Given the description of an element on the screen output the (x, y) to click on. 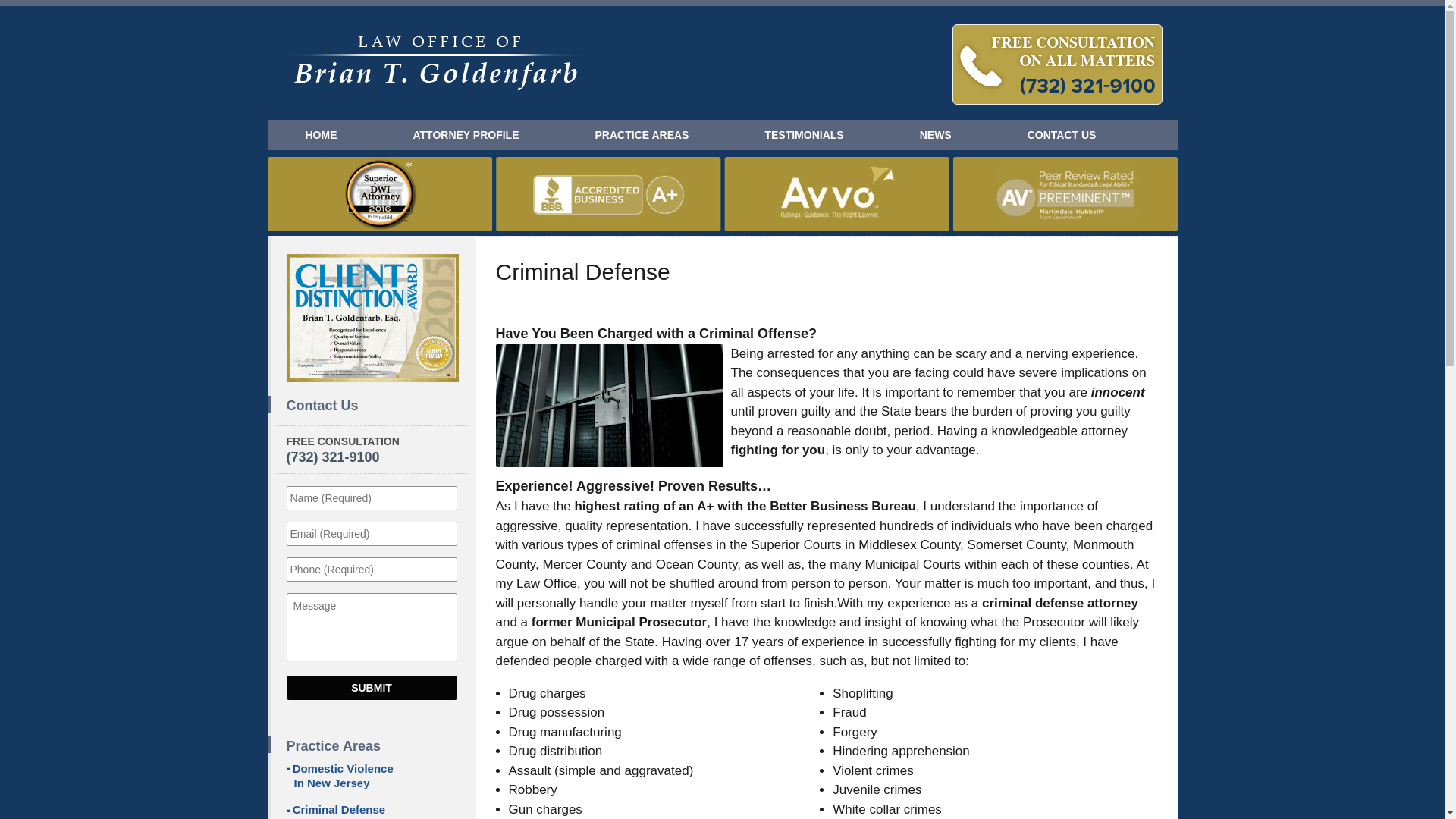
ATTORNEY PROFILE Element type: text (465, 134)
Law Office of Brian T. Goldenfarb Home Element type: text (434, 63)
HOME Element type: text (320, 134)
Submit Element type: text (371, 687)
Practice Areas Element type: text (371, 746)
PRACTICE AREAS Element type: text (642, 134)
CONTACT US Element type: text (1061, 134)
TESTIMONIALS Element type: text (803, 134)
Domestic Violence
In New Jersey Element type: text (370, 775)
Contact Law Office Of Brian T. Goldenfarb Element type: text (1057, 64)
Contact Us Element type: text (371, 405)
NEWS Element type: text (935, 134)
